Given the description of an element on the screen output the (x, y) to click on. 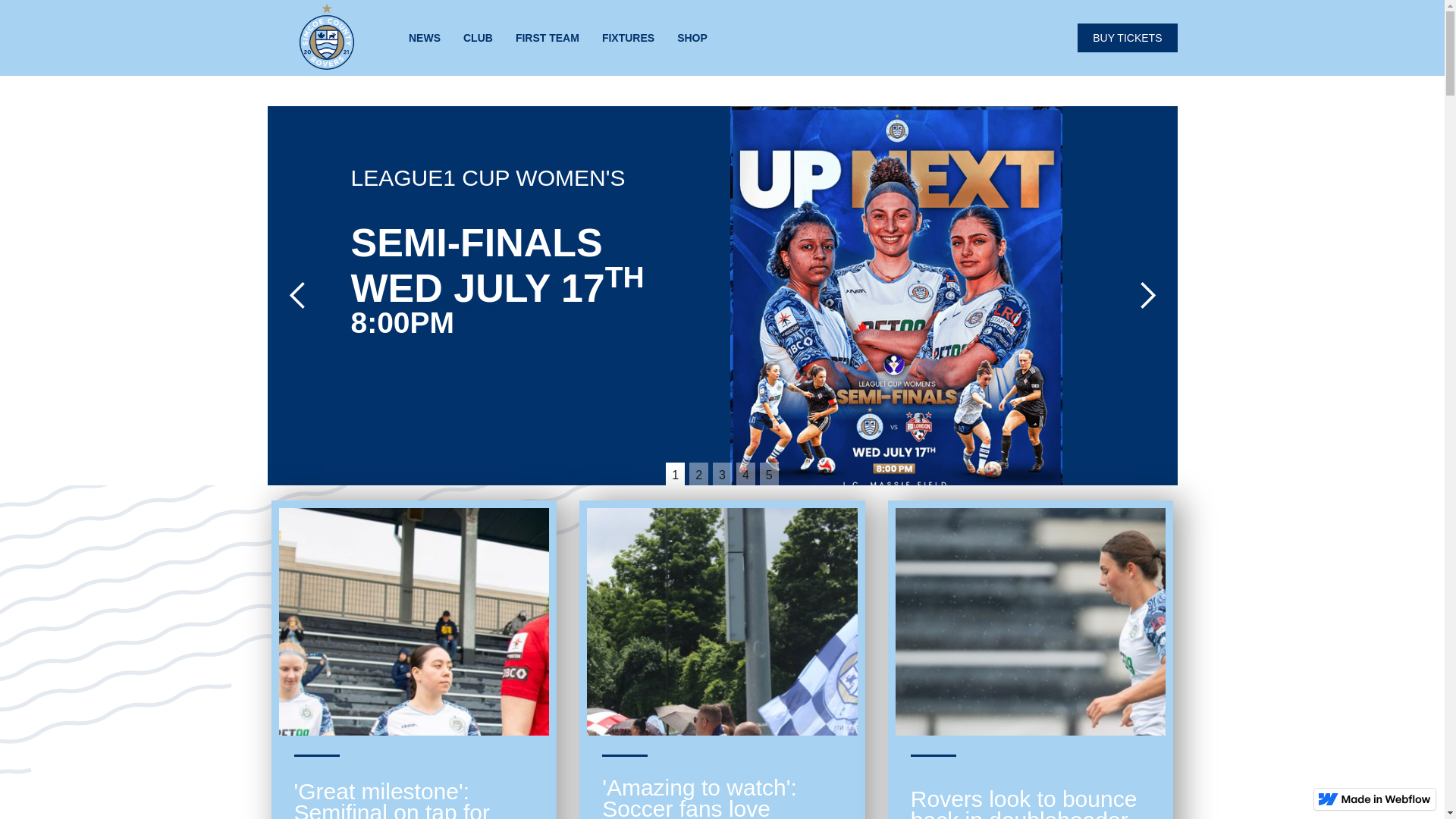
BUY TICKETS (1126, 37)
NEWS (425, 37)
